Given the description of an element on the screen output the (x, y) to click on. 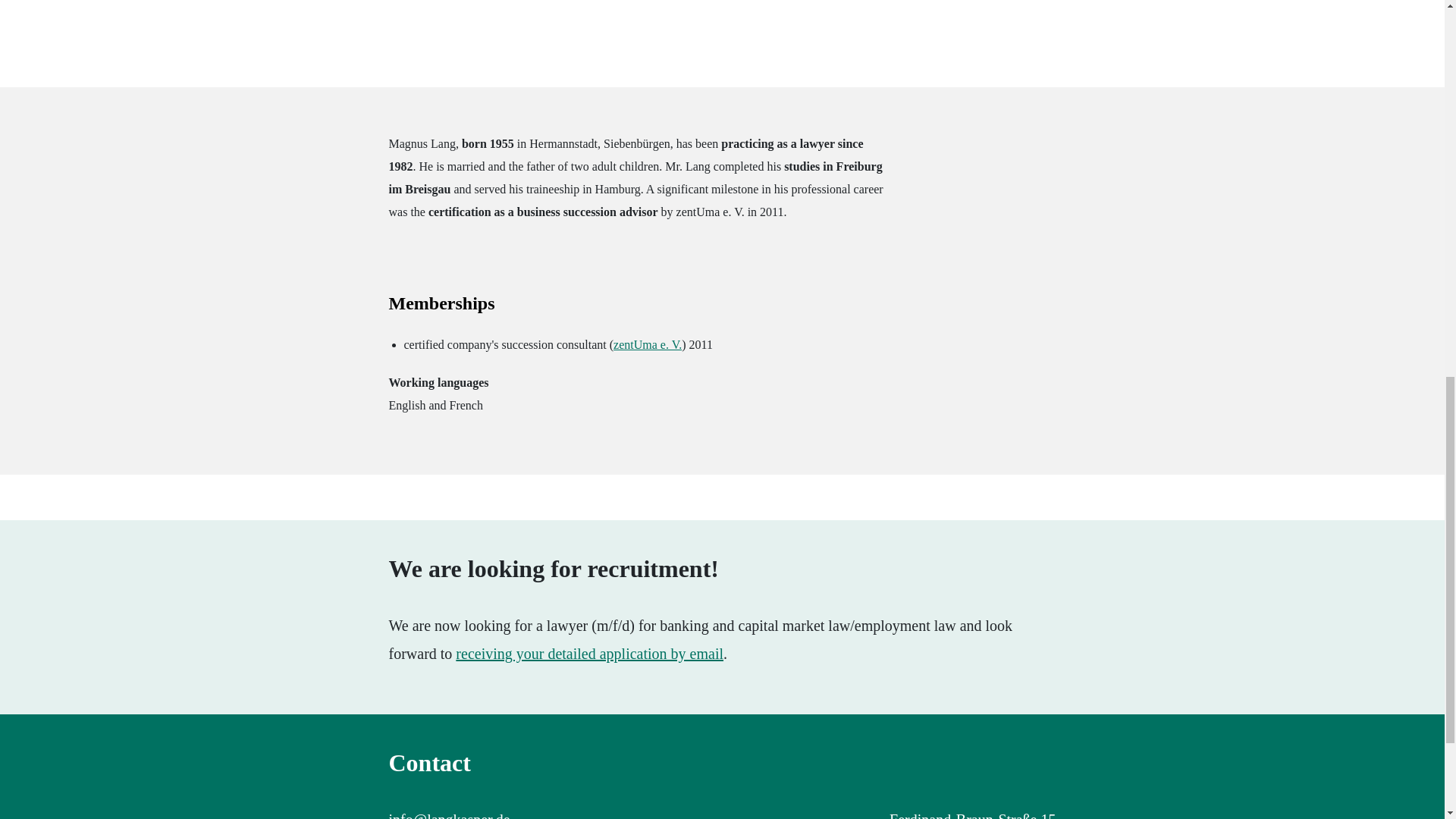
receiving your detailed application by email (589, 653)
zentUma e. V. (646, 344)
